Given the description of an element on the screen output the (x, y) to click on. 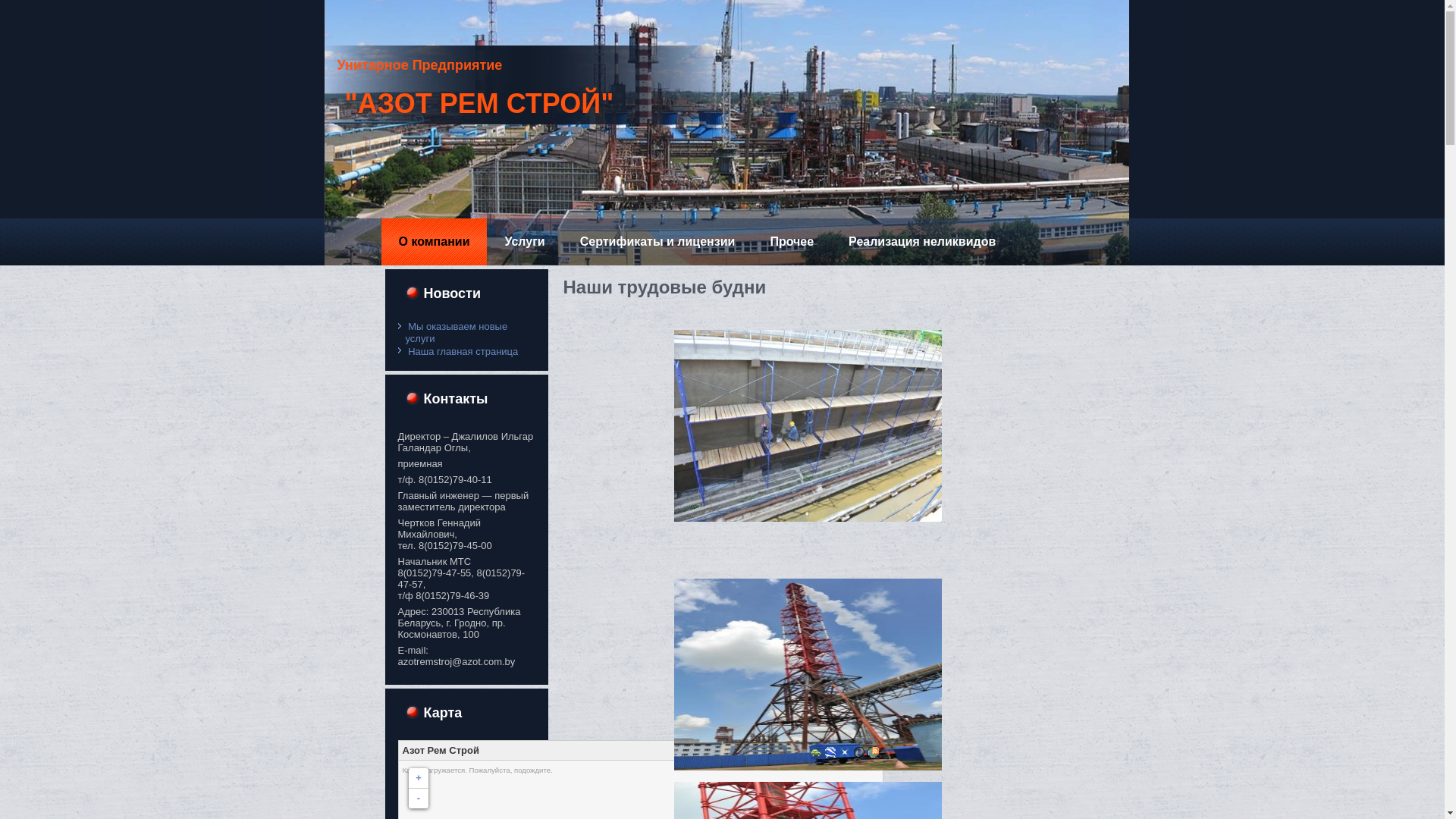
+ Element type: text (417, 778)
- Element type: text (417, 798)
